Given the description of an element on the screen output the (x, y) to click on. 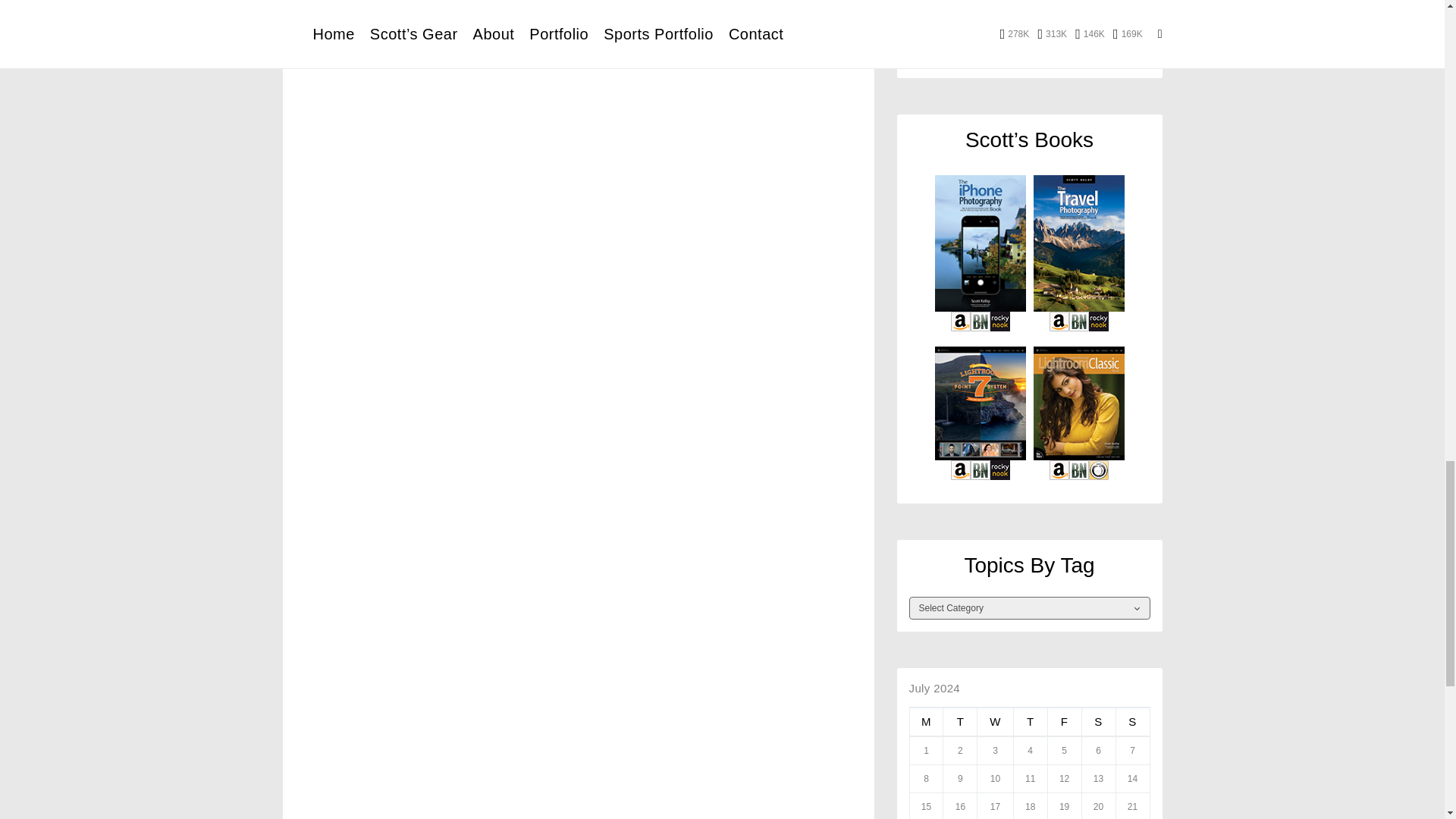
Tuesday (959, 721)
Wednesday (994, 721)
Monday (925, 721)
Thursday (1029, 721)
Saturday (1098, 721)
Friday (1063, 721)
Sunday (1132, 721)
